Given the description of an element on the screen output the (x, y) to click on. 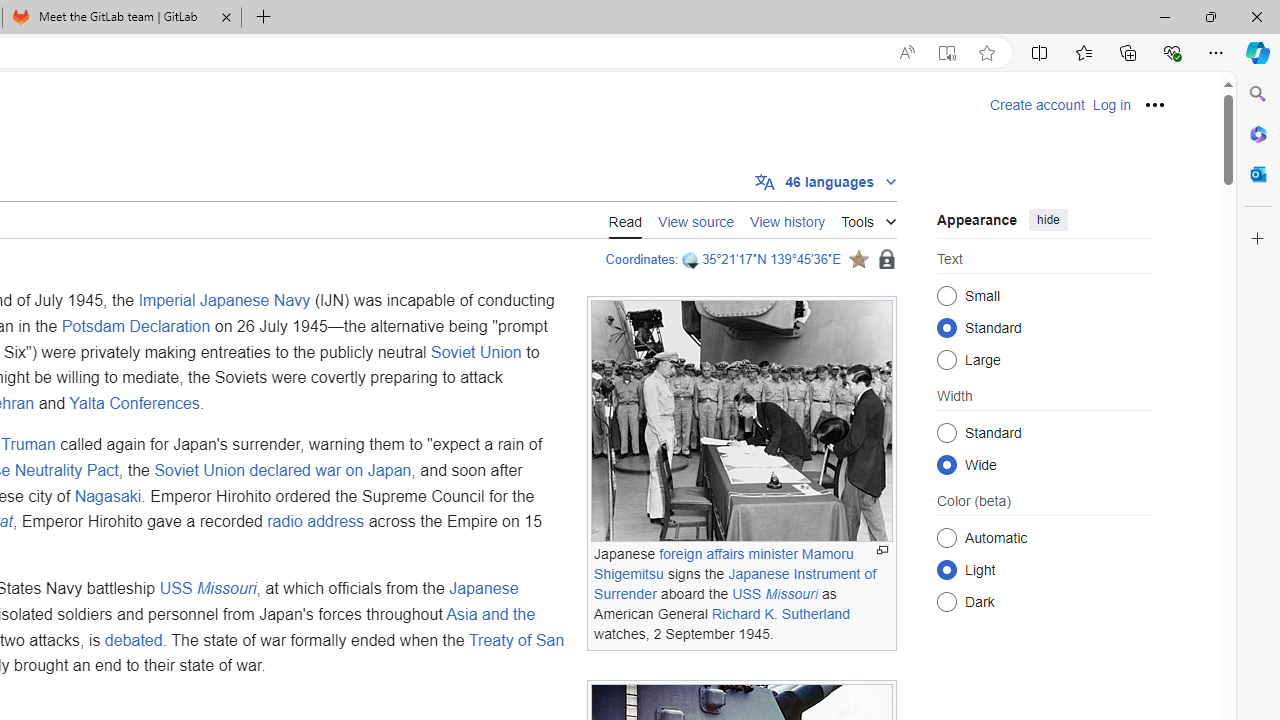
Soviet Union (476, 351)
